Given the description of an element on the screen output the (x, y) to click on. 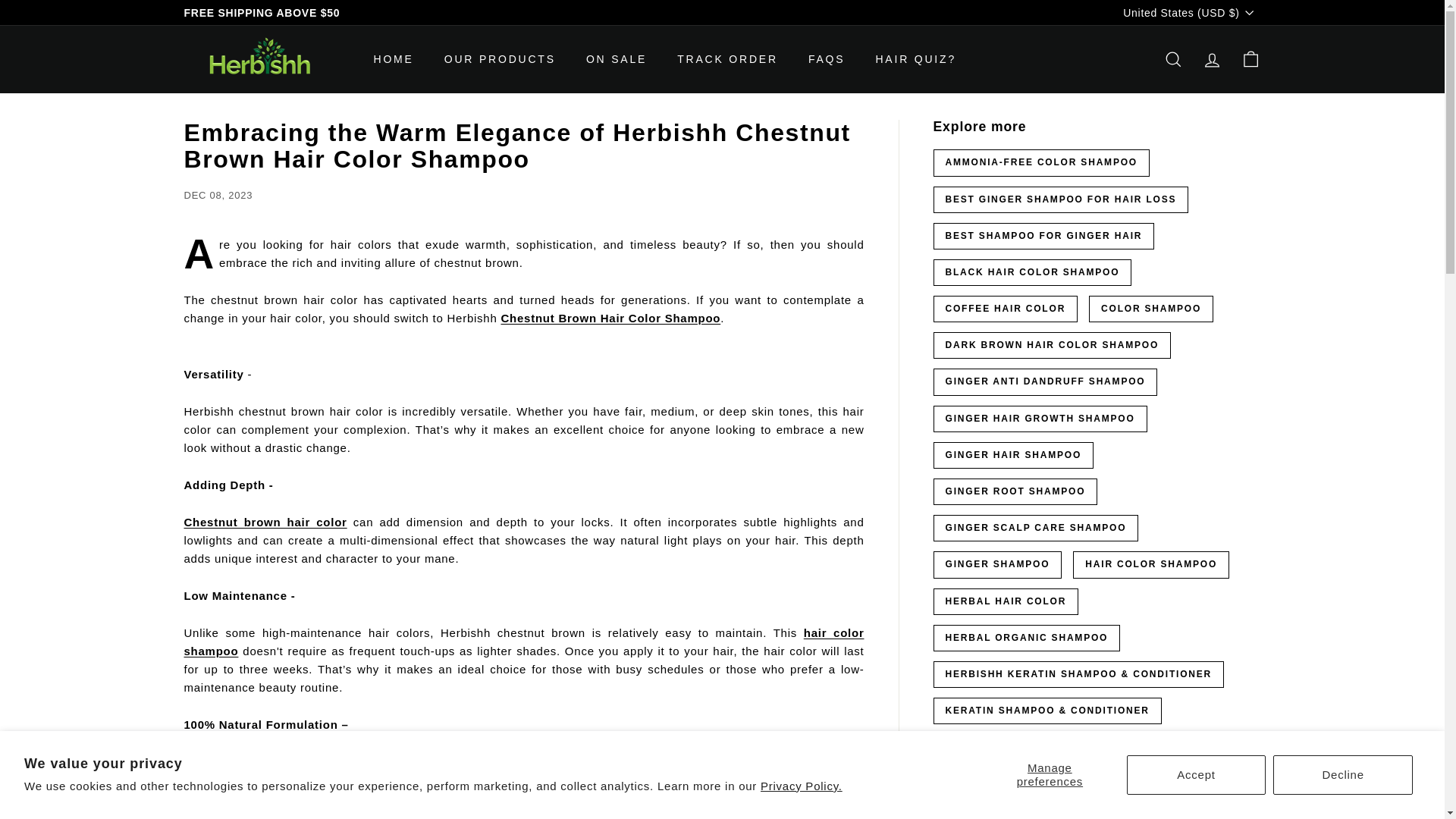
Accept (1196, 774)
Decline (1342, 774)
Manage preferences (1049, 774)
Privacy Policy. (801, 785)
